Given the description of an element on the screen output the (x, y) to click on. 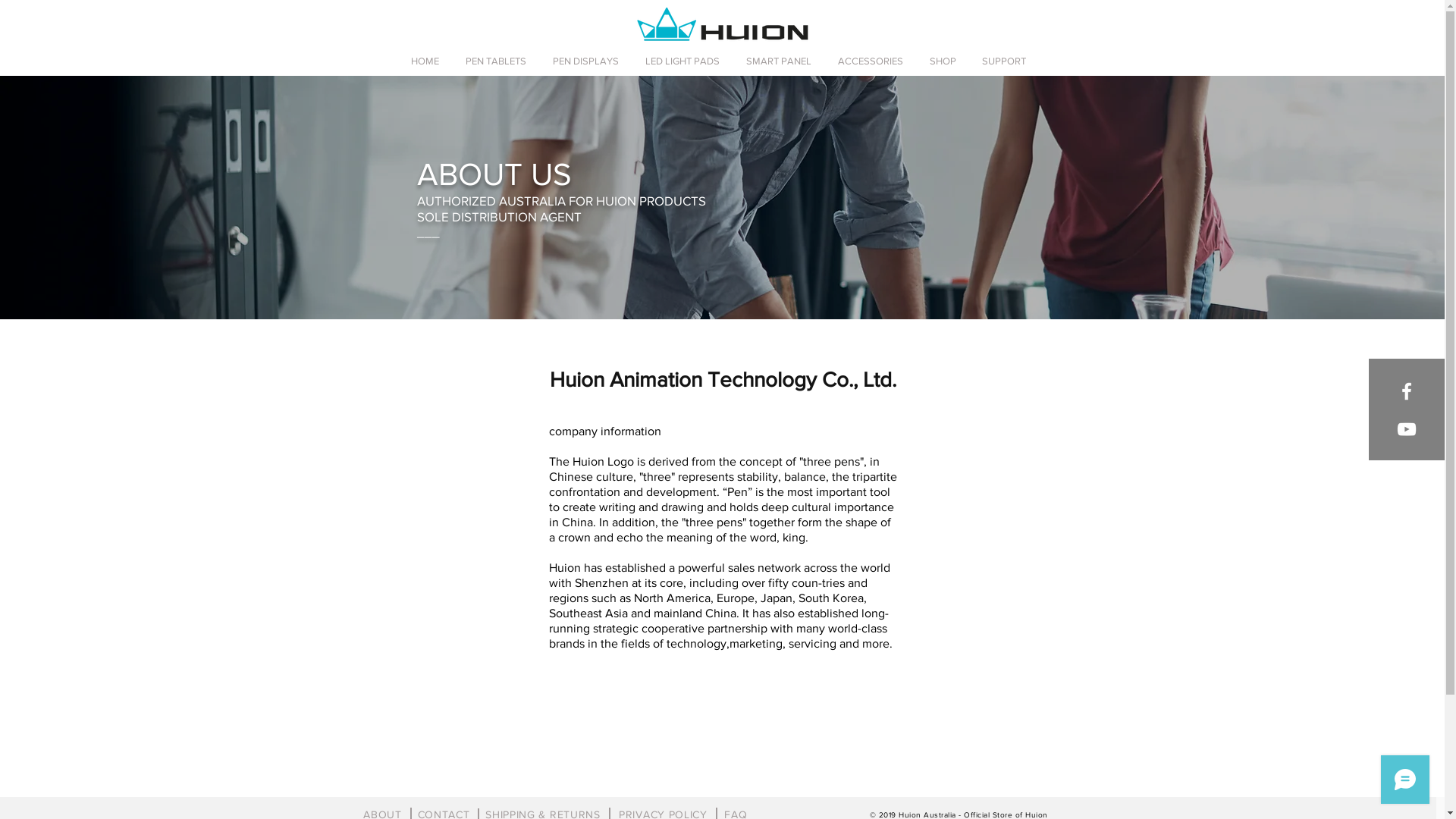
PEN DISPLAYS Element type: text (587, 61)
LED LIGHT PADS Element type: text (683, 61)
ACCESSORIES Element type: text (872, 61)
SMART PANEL Element type: text (780, 61)
SHOP Element type: text (944, 61)
PEN TABLETS Element type: text (497, 61)
SUPPORT Element type: text (1005, 61)
HOME Element type: text (426, 61)
